Given the description of an element on the screen output the (x, y) to click on. 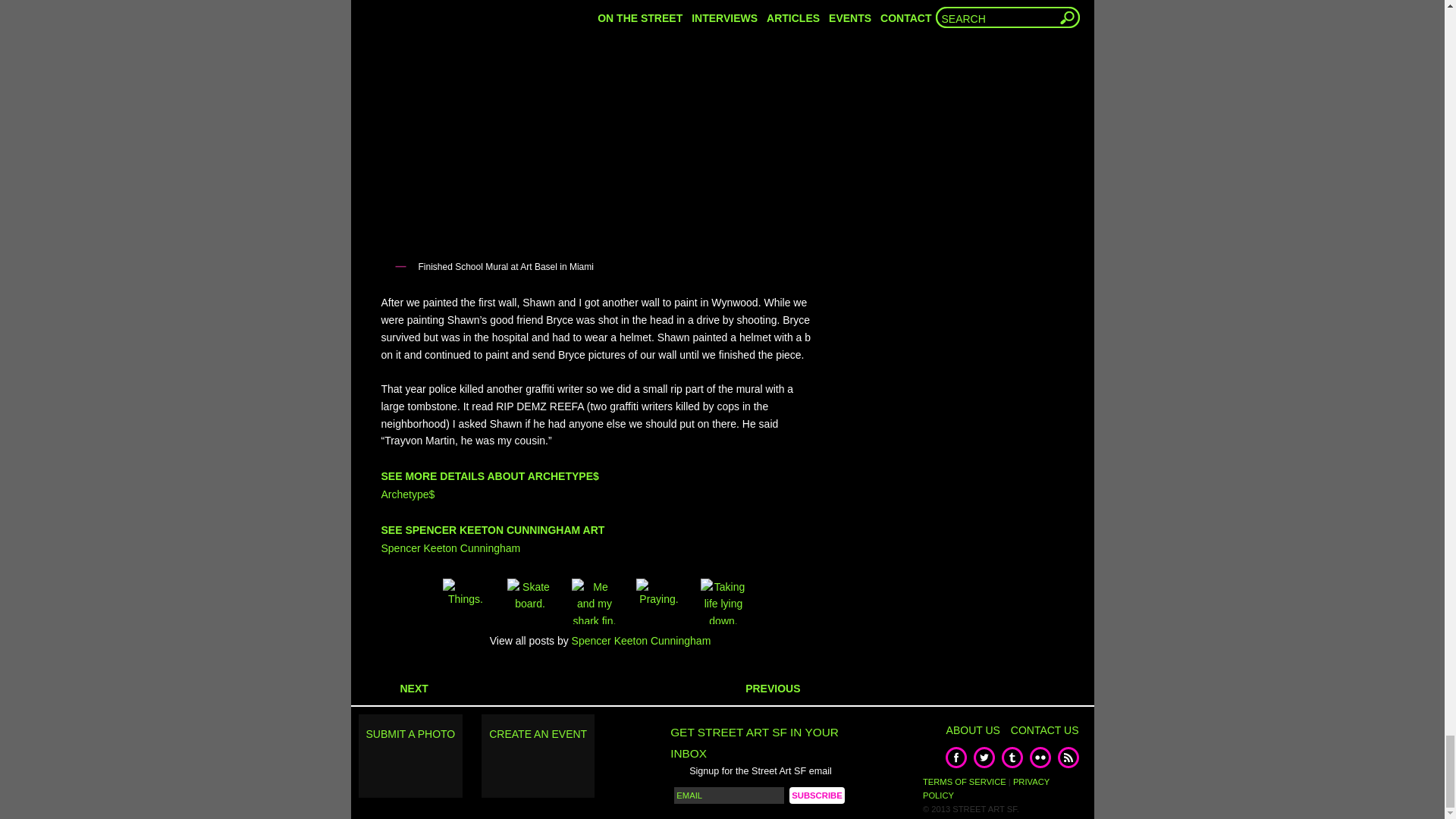
Subscribe (816, 795)
NEXT (404, 688)
  Me and my shark fin.   (594, 601)
  Praying.    (658, 601)
Skate board.  (529, 601)
Things.   (465, 601)
Taking life lying down.   (723, 601)
Spencer Keeton Cunningham (641, 641)
Spencer Keeton Cunningham (449, 548)
